Given the description of an element on the screen output the (x, y) to click on. 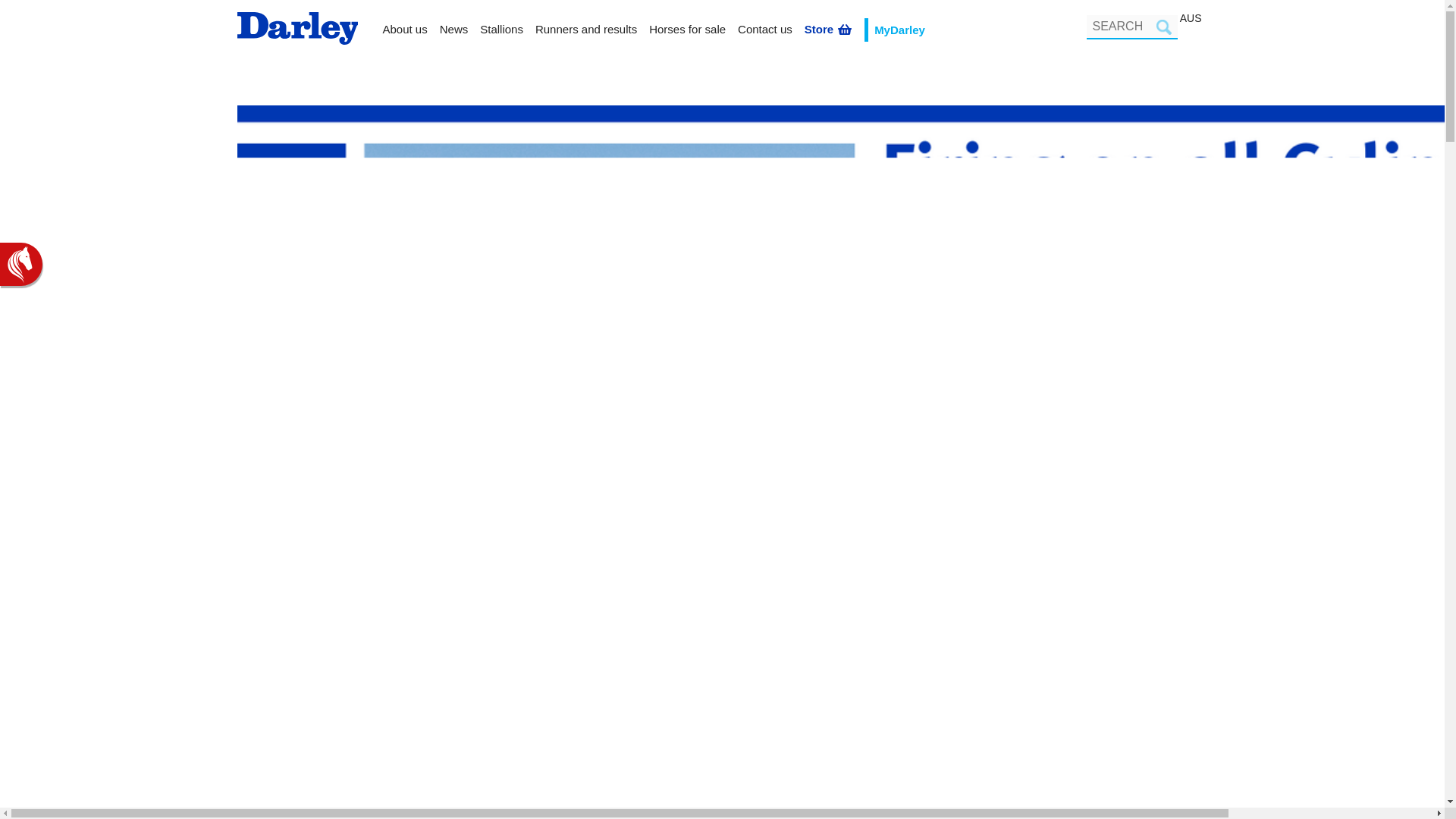
Enter the terms you wish to search for. (1131, 27)
Search (1163, 27)
Runners and results (586, 29)
